Given the description of an element on the screen output the (x, y) to click on. 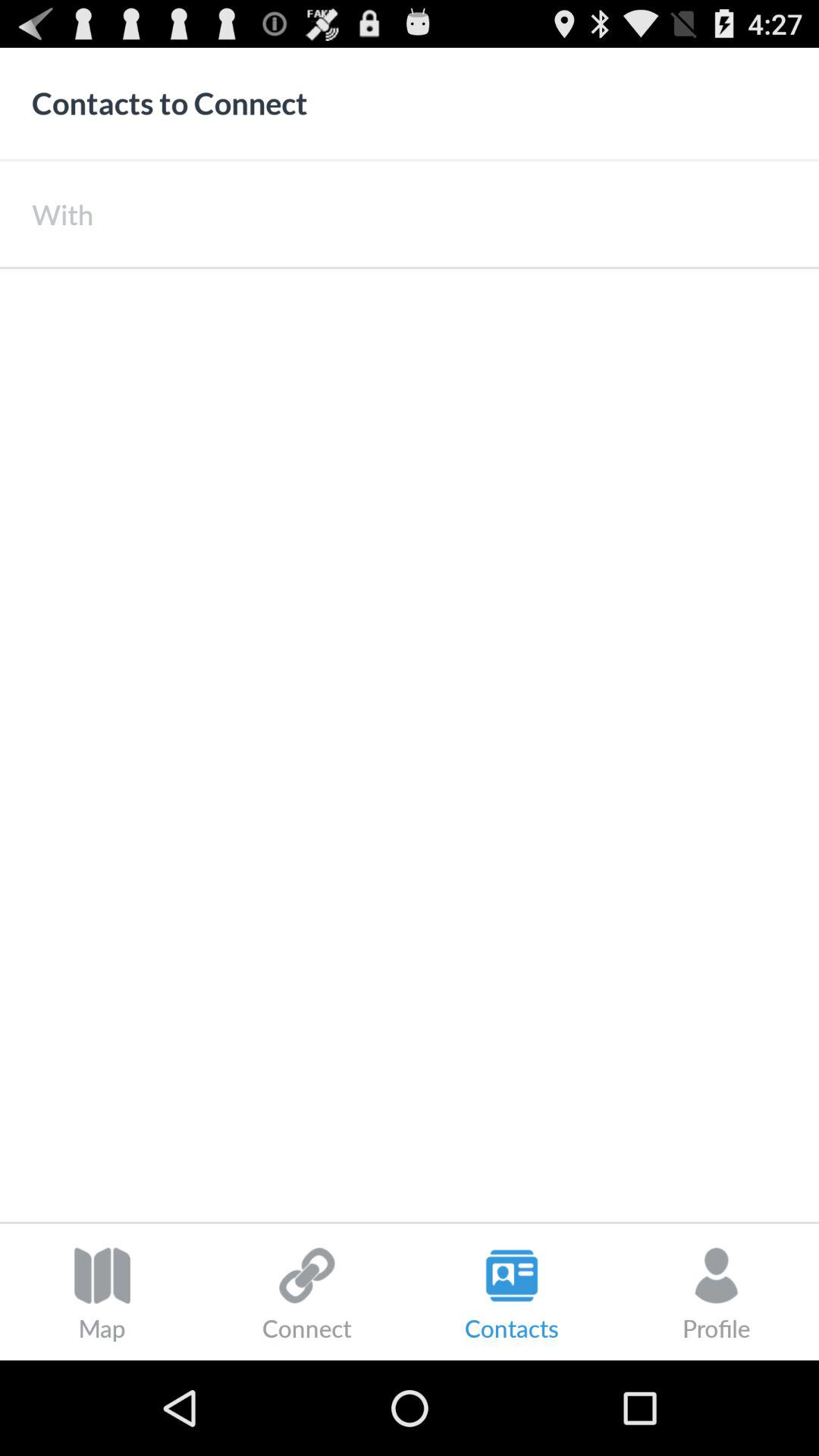
turn on the (456, 213)
